Given the description of an element on the screen output the (x, y) to click on. 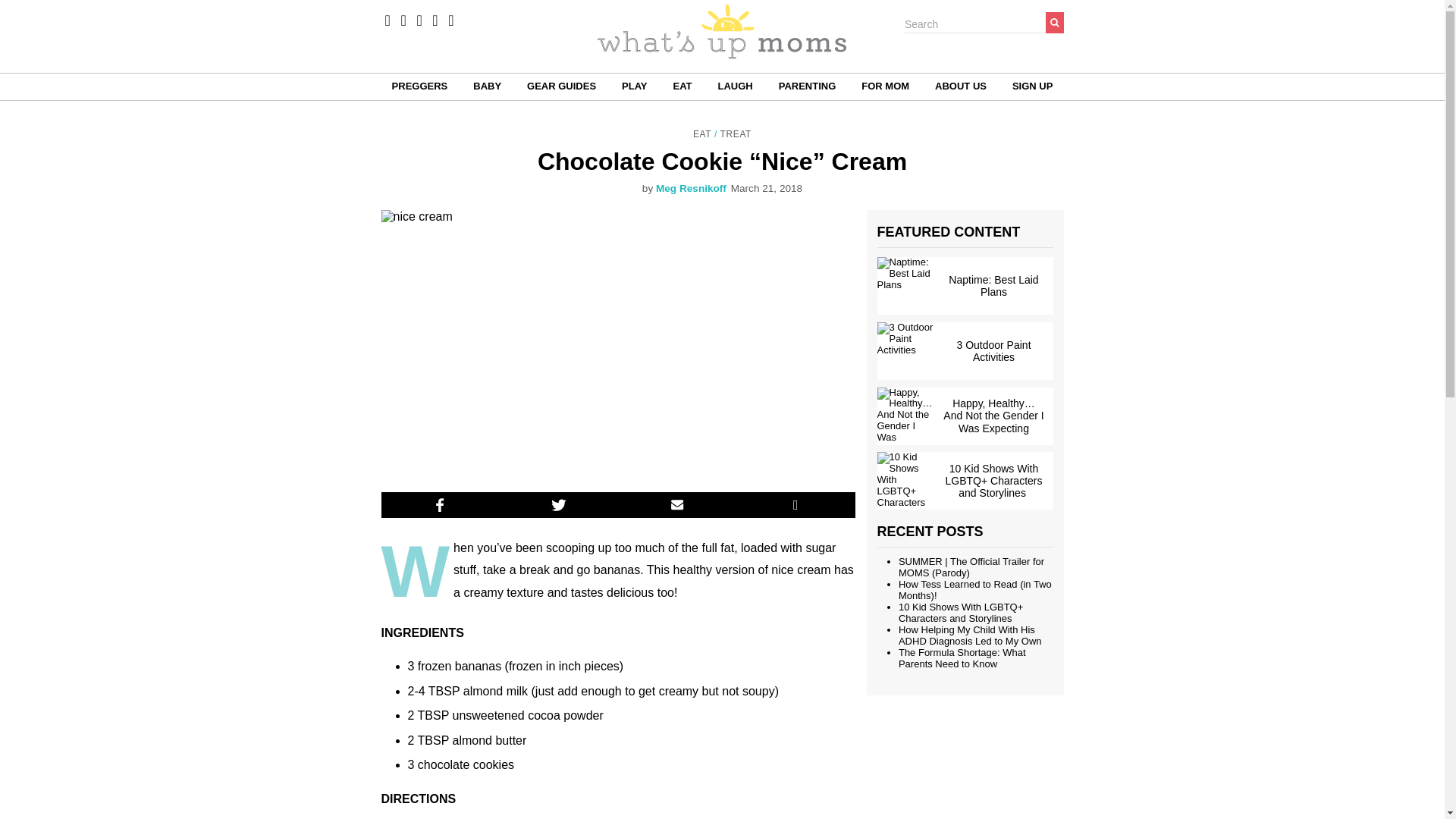
Naptime: Best Laid Plans (964, 285)
PREGGERS (419, 86)
PARENTING (806, 86)
ABOUT US (959, 86)
FOR MOM (884, 86)
EAT (702, 133)
3 Outdoor Paint Activities (964, 351)
TREAT (735, 133)
BABY (486, 86)
3 Outdoor Paint Activities (964, 351)
Go to the Eat category archives. (702, 133)
GEAR GUIDES (560, 86)
Naptime: Best Laid Plans (964, 285)
LAUGH (734, 86)
EAT (682, 86)
